Given the description of an element on the screen output the (x, y) to click on. 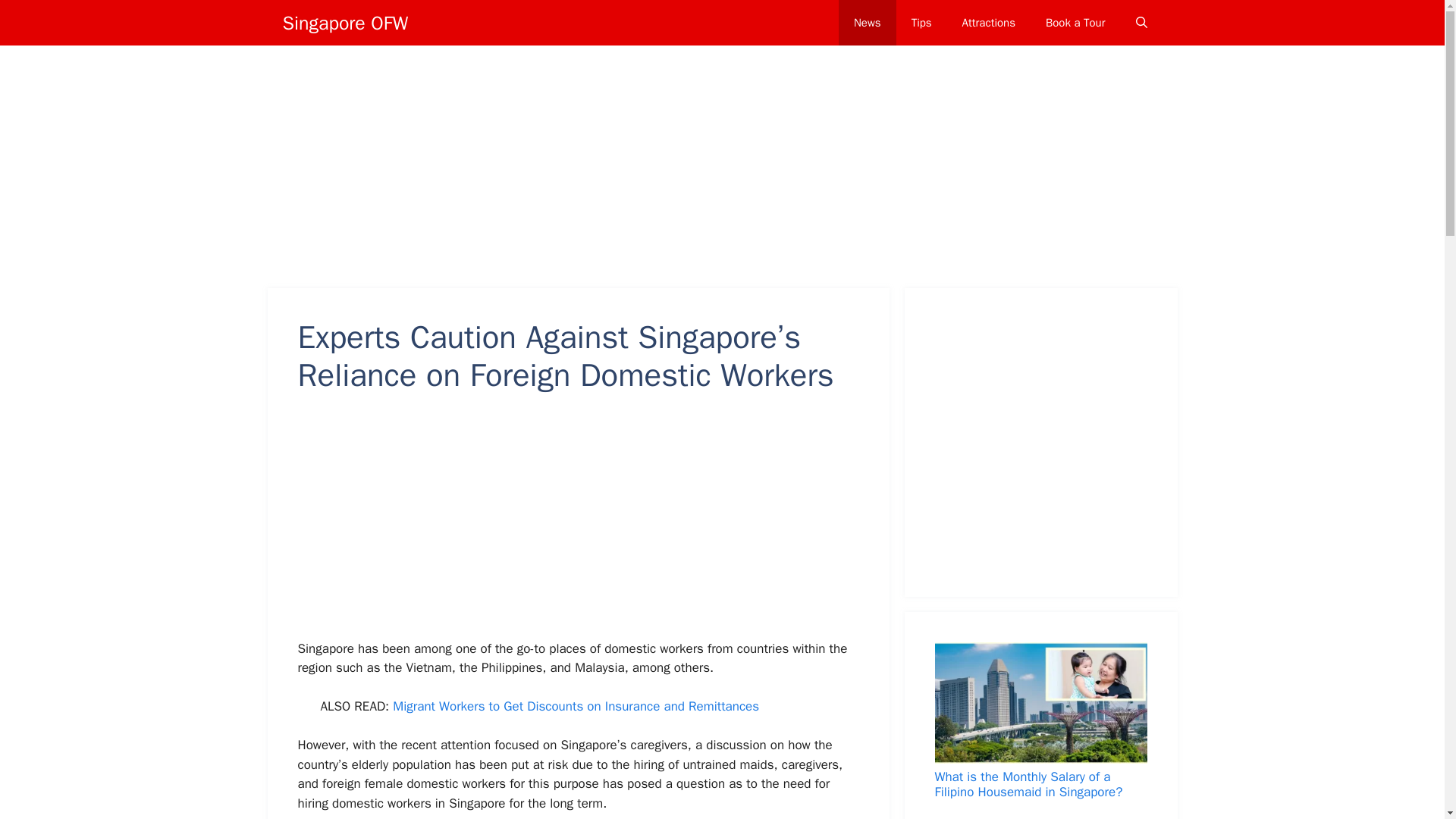
Singapore OFW (344, 22)
News (867, 22)
Tips (921, 22)
Advertisement (596, 526)
Book a Tour (1075, 22)
Attractions (988, 22)
